Given the description of an element on the screen output the (x, y) to click on. 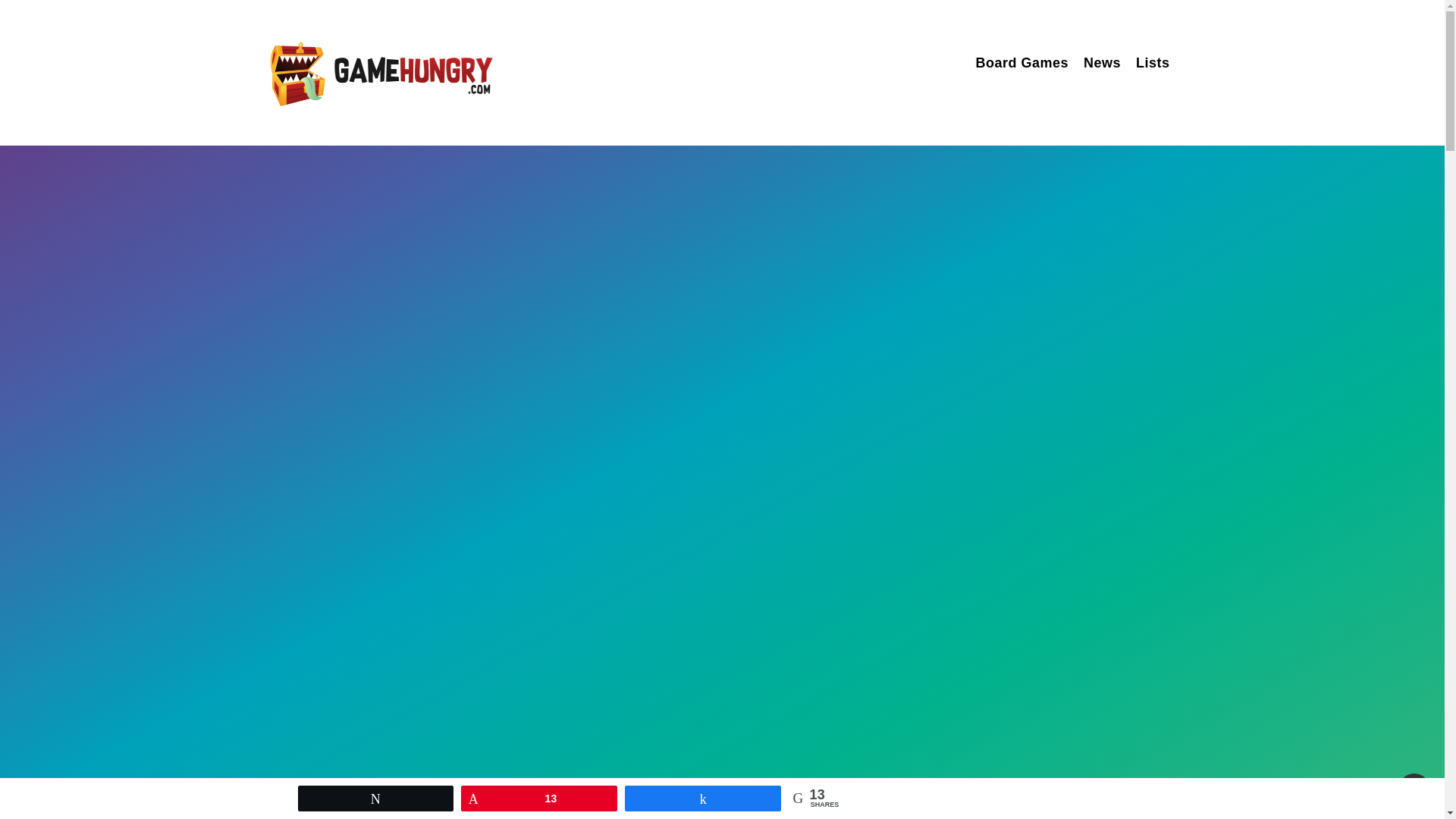
News (1102, 64)
Board Games (1021, 64)
13 (538, 797)
Lists (1152, 64)
